Given the description of an element on the screen output the (x, y) to click on. 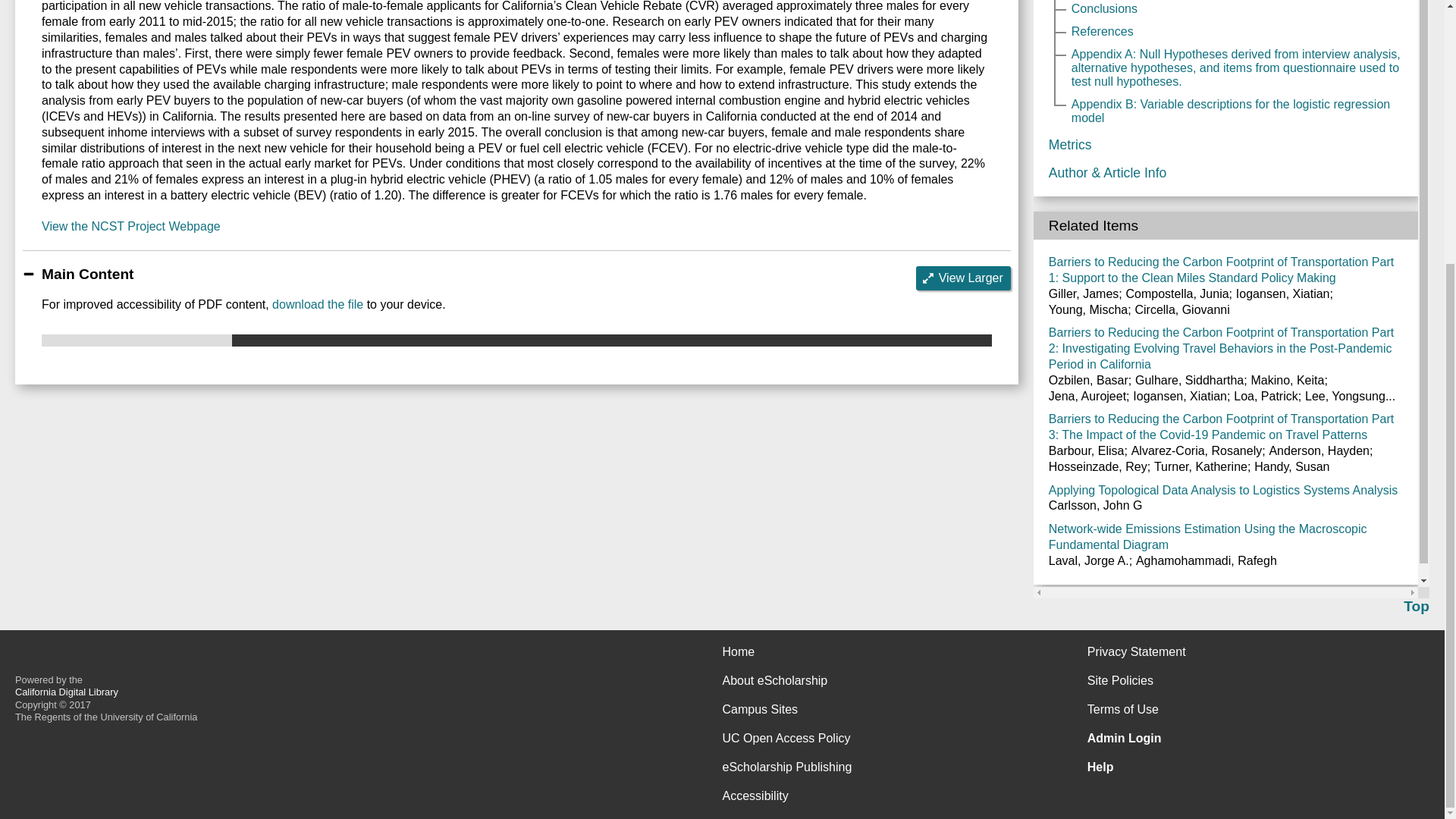
View the NCST Project Webpage (131, 226)
download the file (317, 304)
View Larger (962, 278)
